Given the description of an element on the screen output the (x, y) to click on. 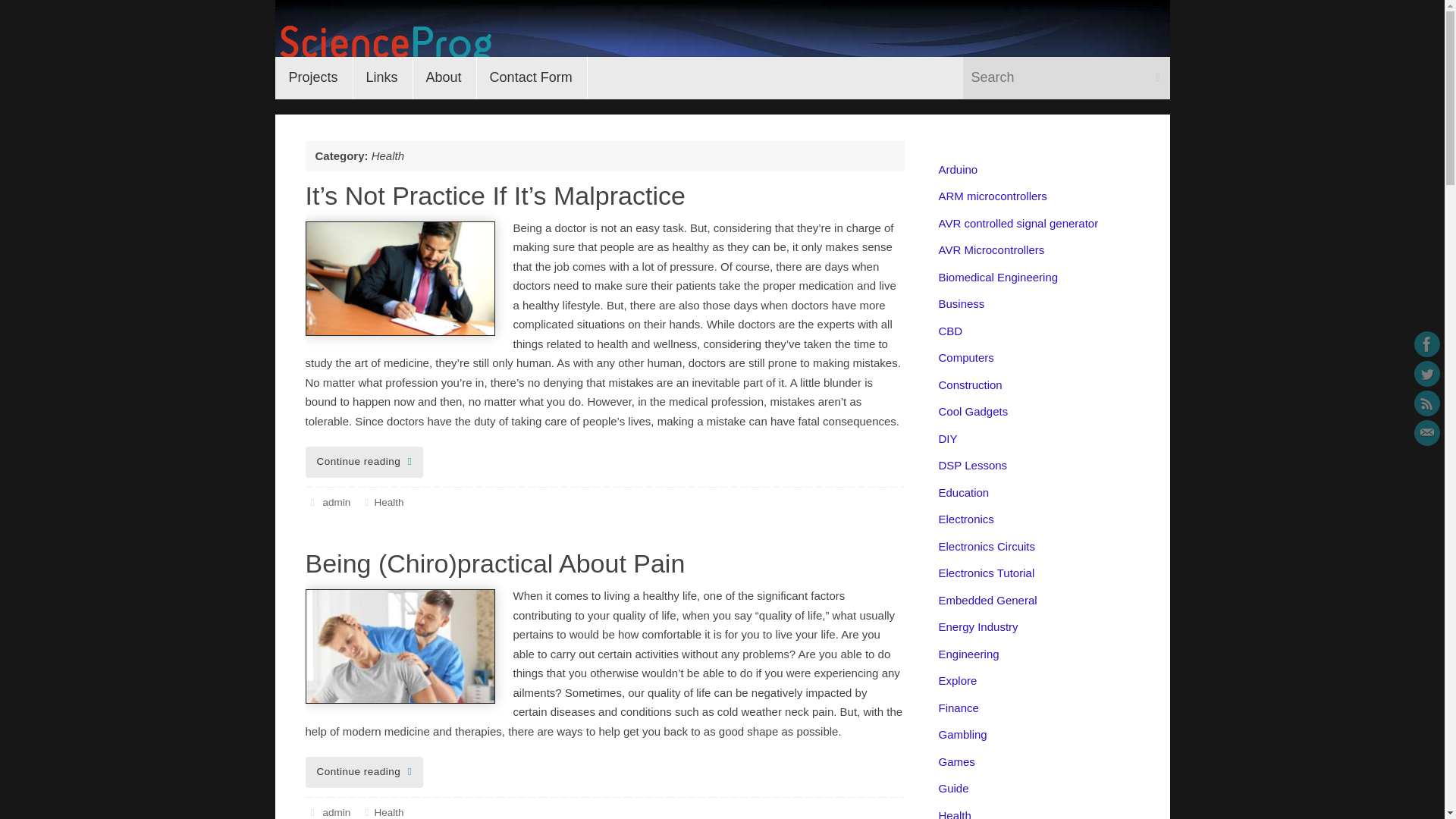
About (444, 77)
Author  (311, 501)
Health (388, 812)
Do It Easy With ScienceProg (722, 33)
Projects (313, 77)
Continue reading (363, 771)
admin (335, 501)
Feedburner (1426, 403)
Do It Easy With ScienceProg (383, 44)
Facebook (1426, 344)
